Given the description of an element on the screen output the (x, y) to click on. 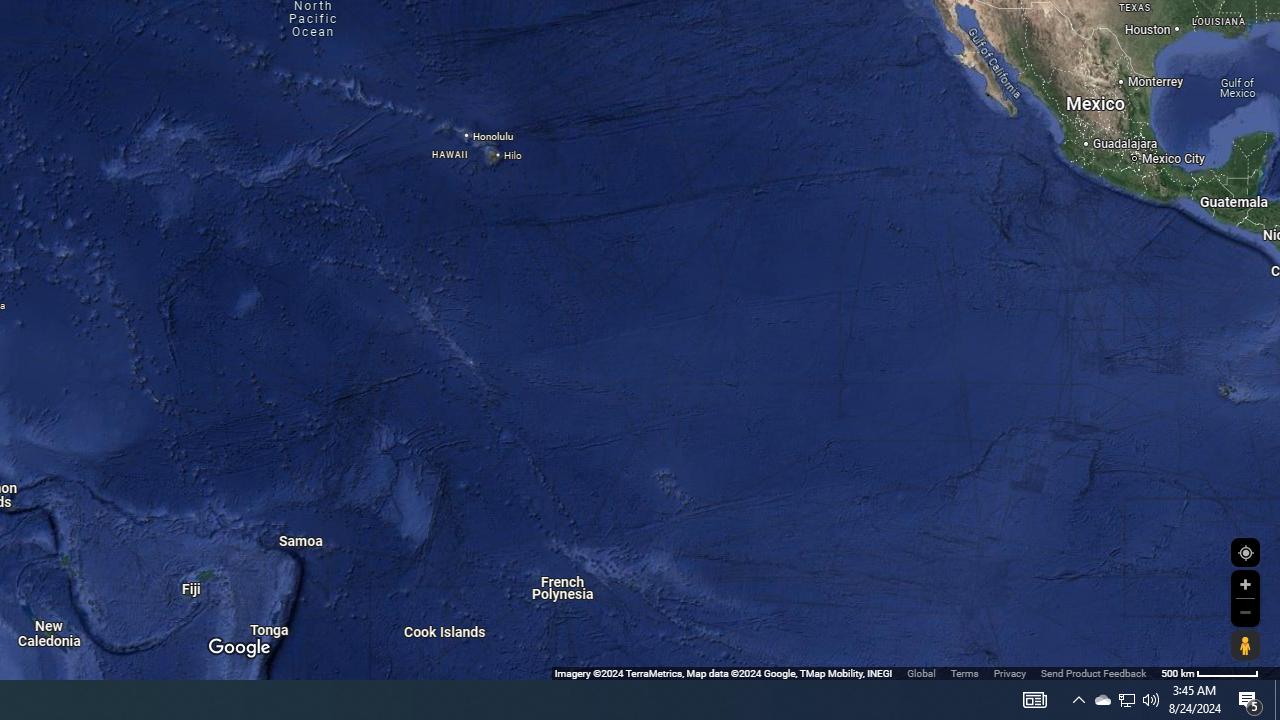
Show Street View coverage (1245, 645)
Send Product Feedback (1093, 672)
Zoom in (1245, 584)
Terms (964, 672)
Privacy (1009, 672)
Zoom out (1245, 612)
Show Your Location (1245, 552)
500 m (1209, 672)
Global (921, 672)
